Given the description of an element on the screen output the (x, y) to click on. 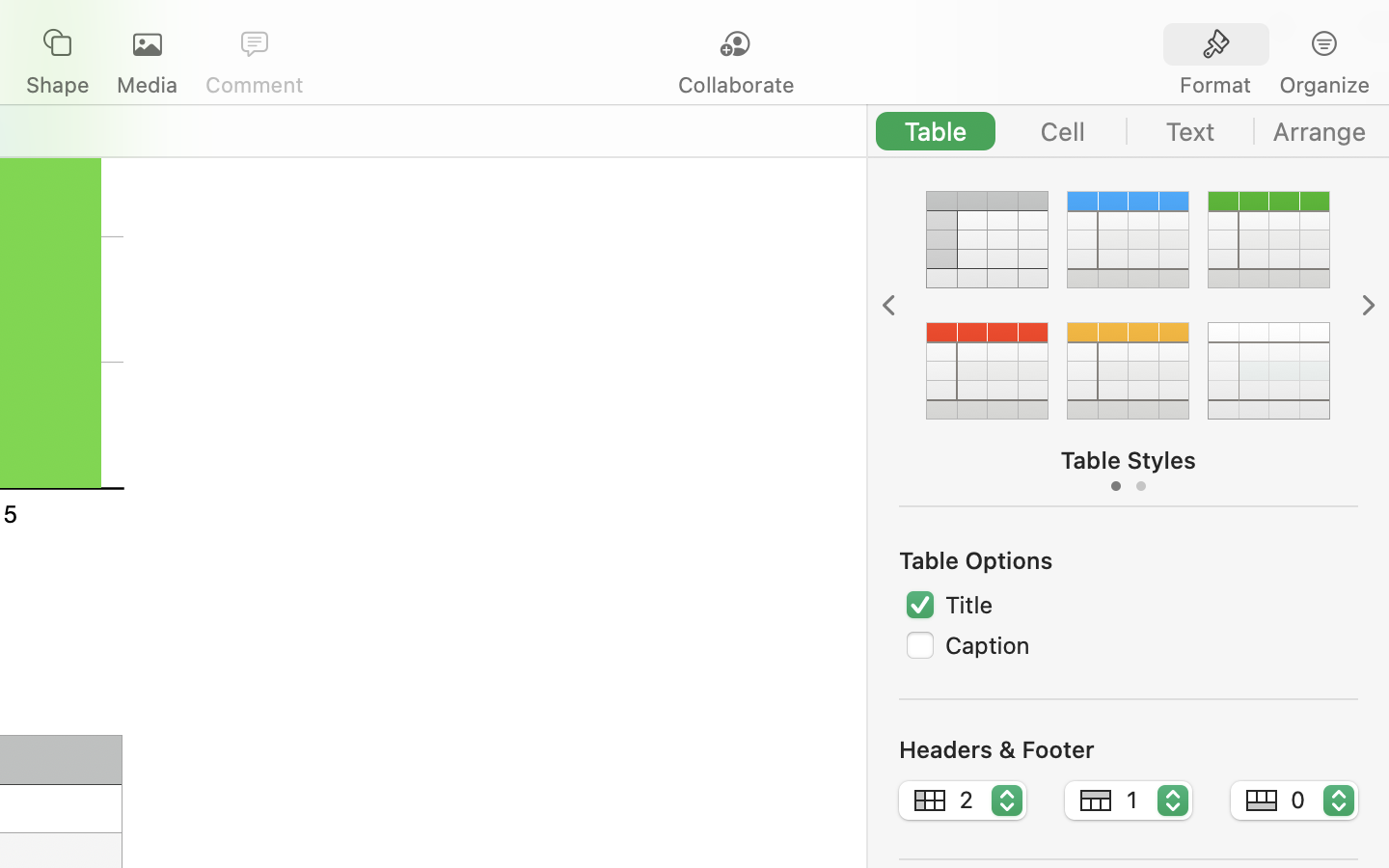
Format Element type: AXStaticText (1215, 84)
Media Element type: AXStaticText (146, 84)
Table Options Element type: AXStaticText (976, 559)
